Given the description of an element on the screen output the (x, y) to click on. 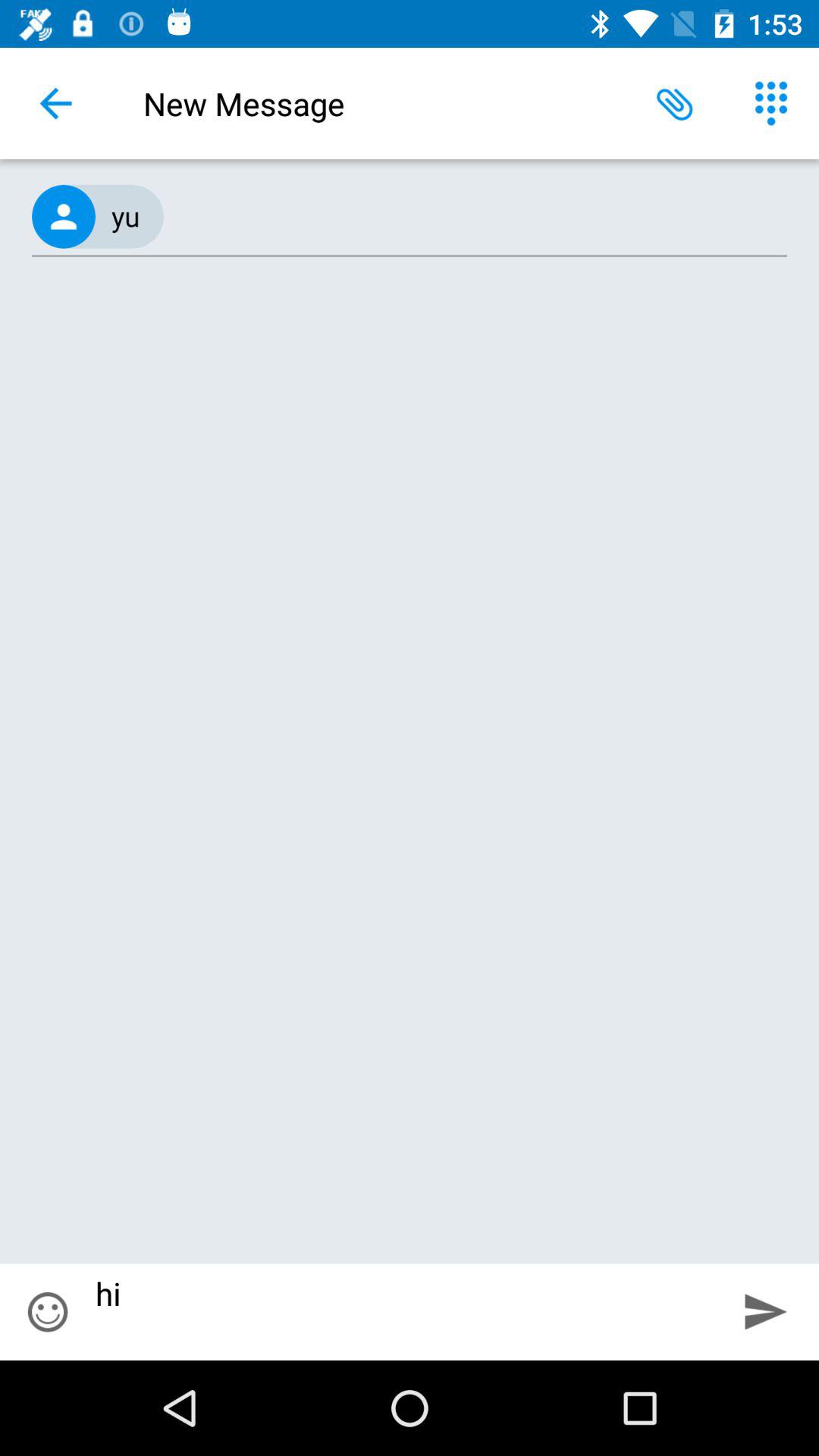
open the item at the bottom left corner (47, 1311)
